Given the description of an element on the screen output the (x, y) to click on. 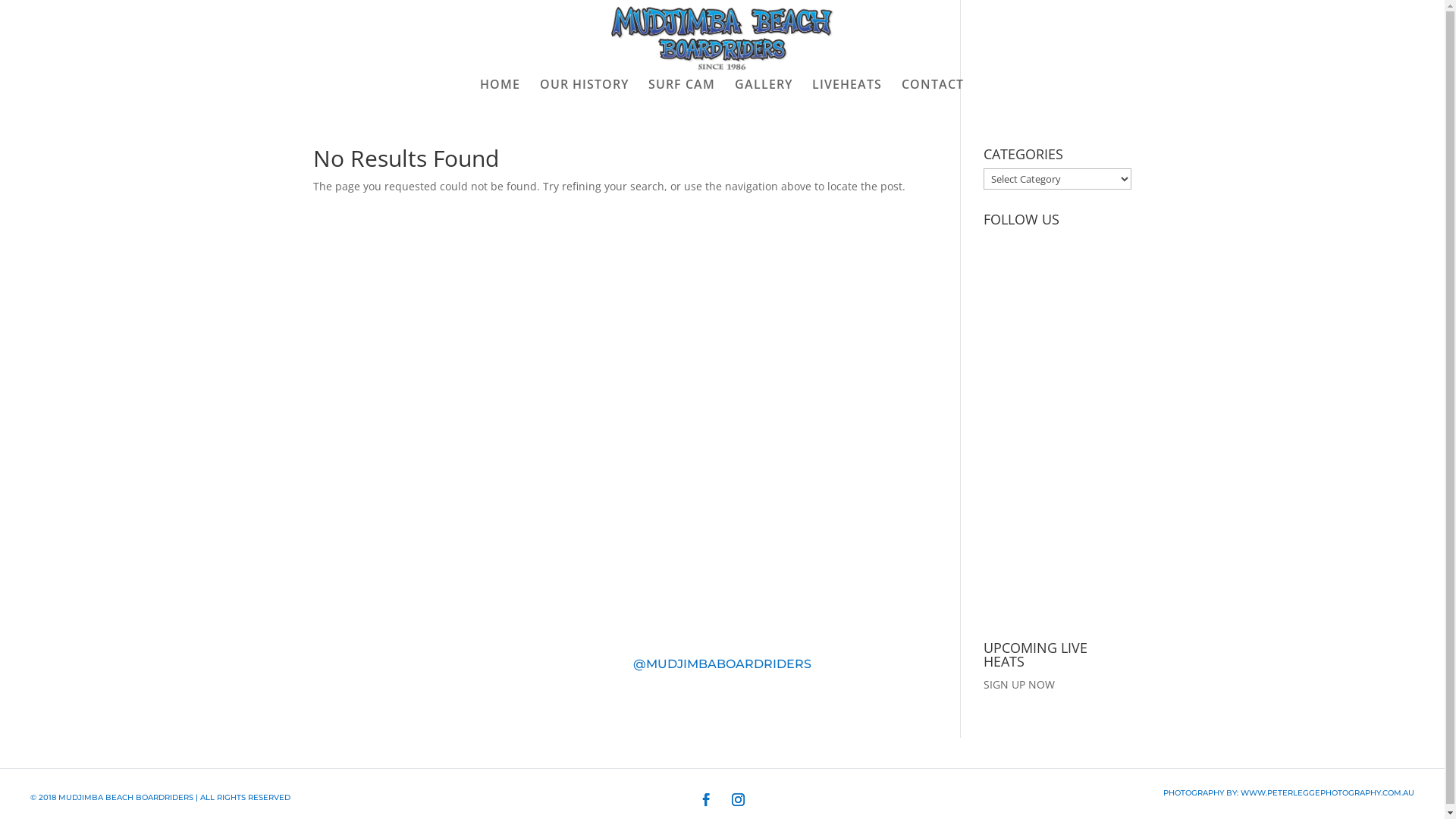
CONTACT Element type: text (931, 90)
LIVEHEATS Element type: text (846, 90)
OUR HISTORY Element type: text (583, 90)
SURF CAM Element type: text (680, 90)
GALLERY Element type: text (762, 90)
Follow on Facebook Element type: hover (705, 799)
Follow on Instagram Element type: hover (737, 799)
HOME Element type: text (499, 90)
@MUDJIMBABOARDRIDERS Element type: text (722, 664)
SIGN UP NOW Element type: text (1018, 684)
